Given the description of an element on the screen output the (x, y) to click on. 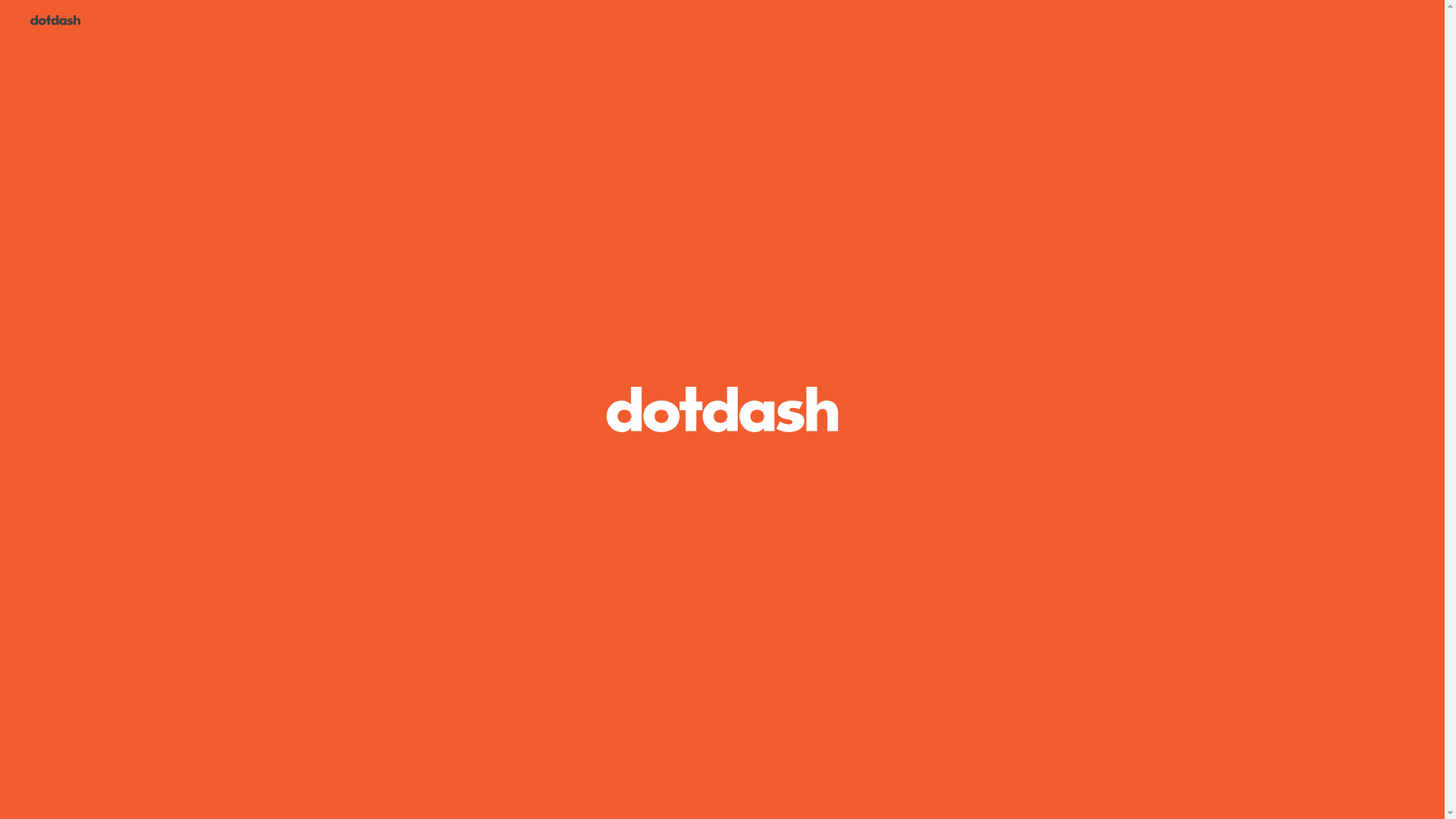
Menu Element type: text (55, 21)
